Given the description of an element on the screen output the (x, y) to click on. 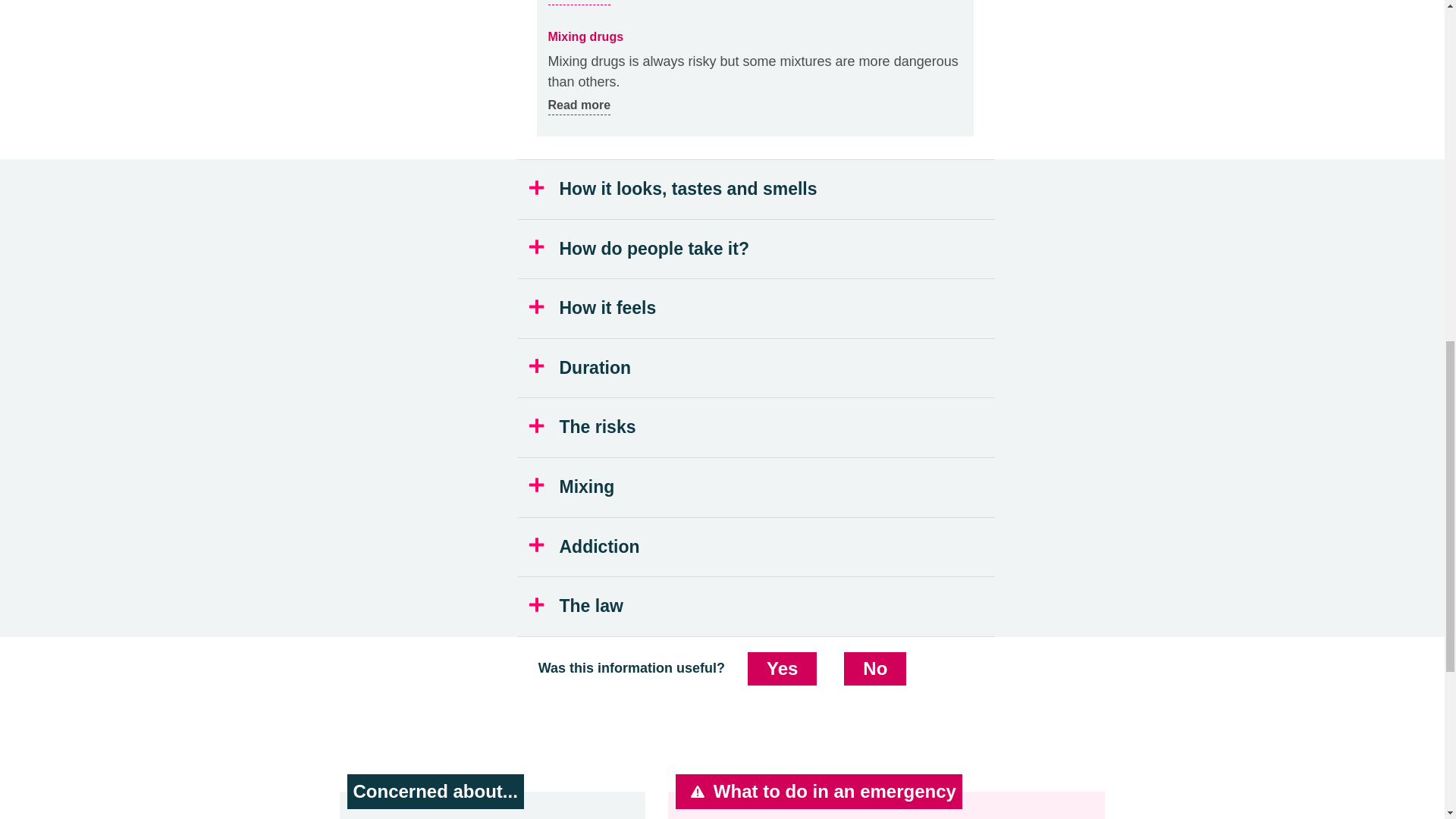
The risks (756, 427)
How it looks, tastes and smells (578, 2)
Mixing (756, 189)
How it feels (756, 486)
How do people take it? (756, 308)
Addiction (756, 249)
Duration (756, 547)
The law (756, 368)
Yes (756, 606)
No (782, 668)
